Given the description of an element on the screen output the (x, y) to click on. 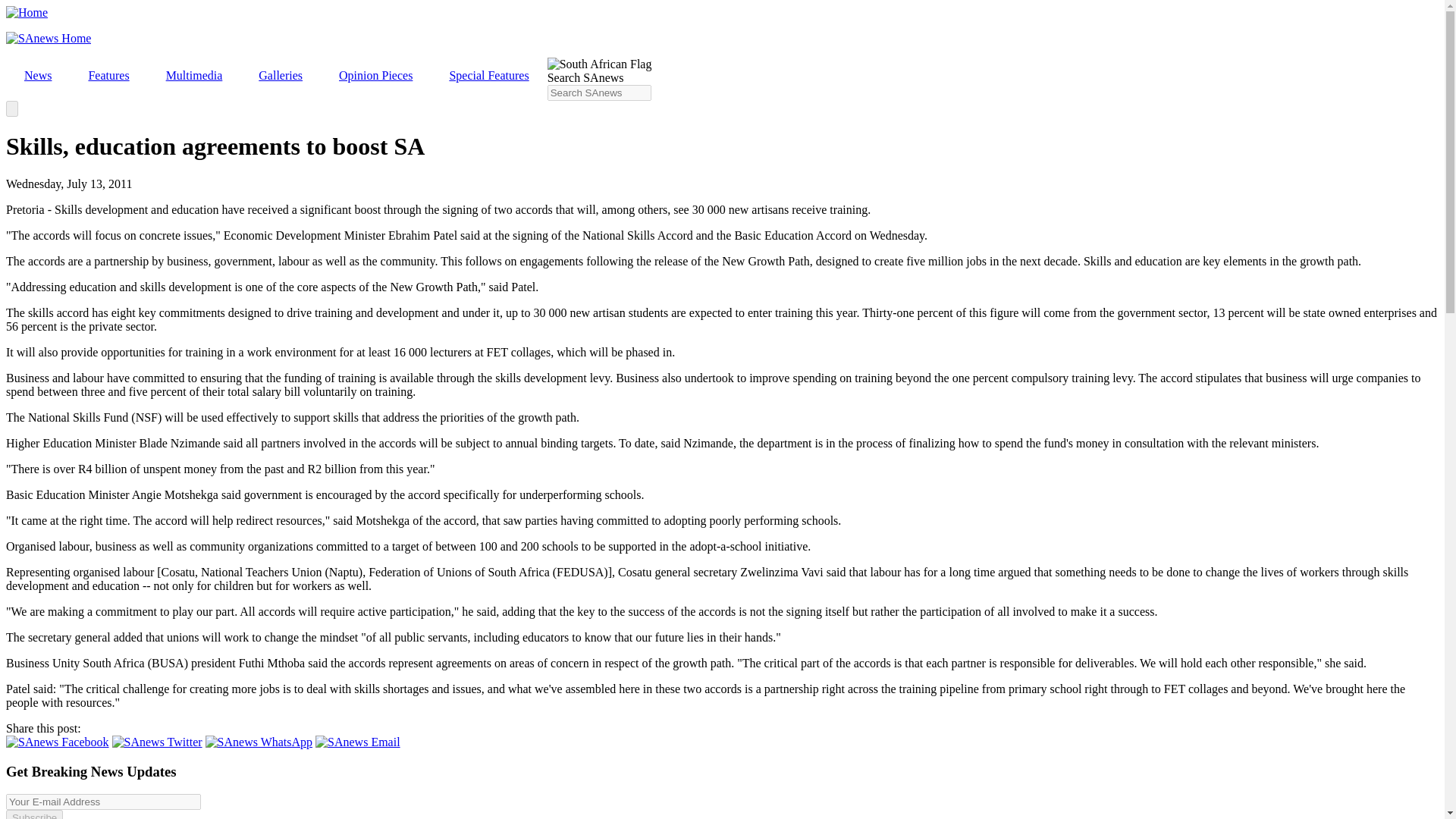
News (37, 75)
Special Features (488, 75)
Galleries (280, 75)
Features (108, 75)
Subscribe (33, 814)
Opinion Pieces (375, 75)
Home (26, 11)
Subscribe (33, 814)
Multimedia (194, 75)
